Given the description of an element on the screen output the (x, y) to click on. 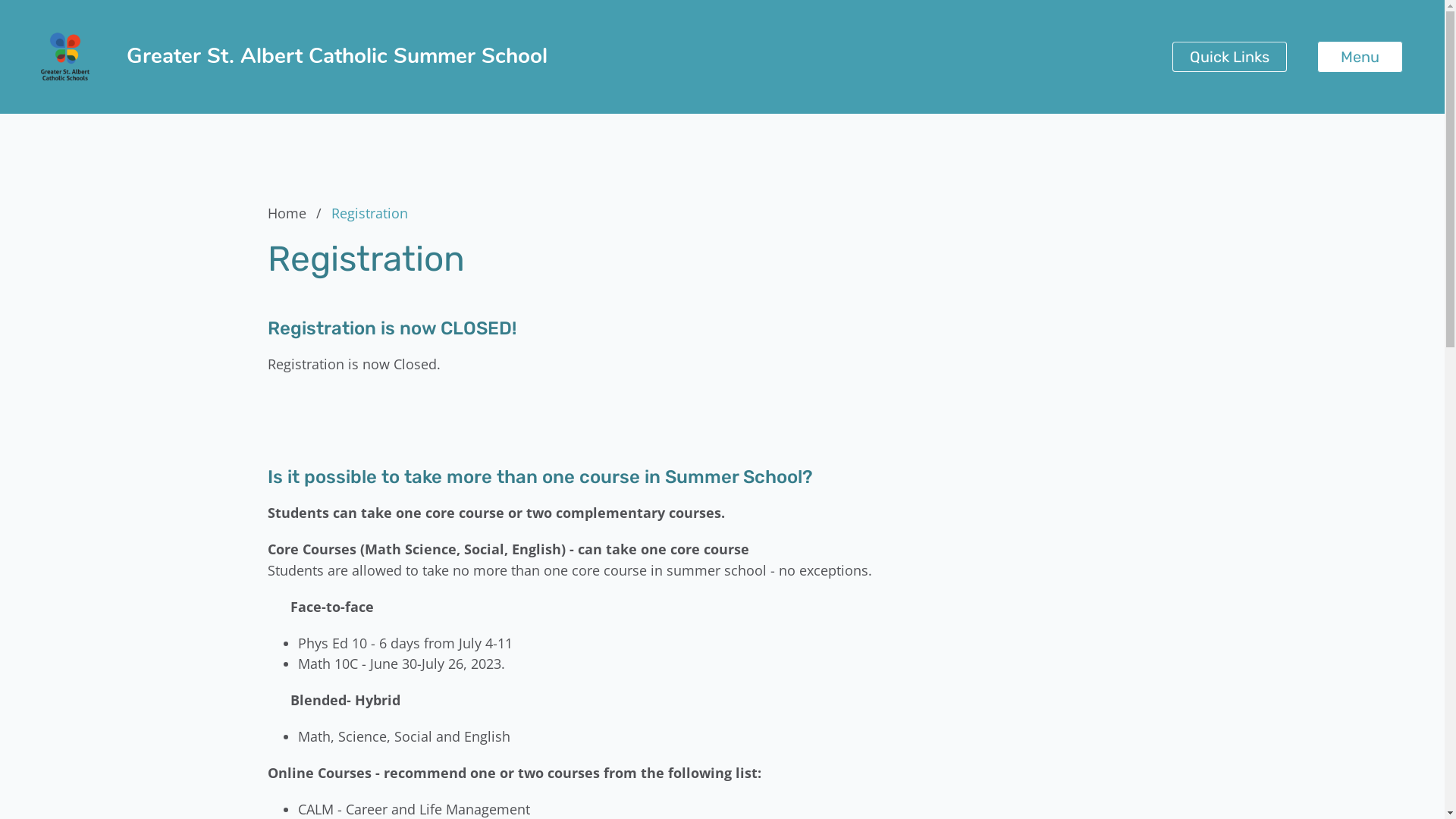
home Element type: hover (65, 56)
Menu Element type: text (1359, 56)
Home Element type: text (296, 212)
Quick Links Element type: text (1229, 56)
Search Element type: text (45, 19)
